Given the description of an element on the screen output the (x, y) to click on. 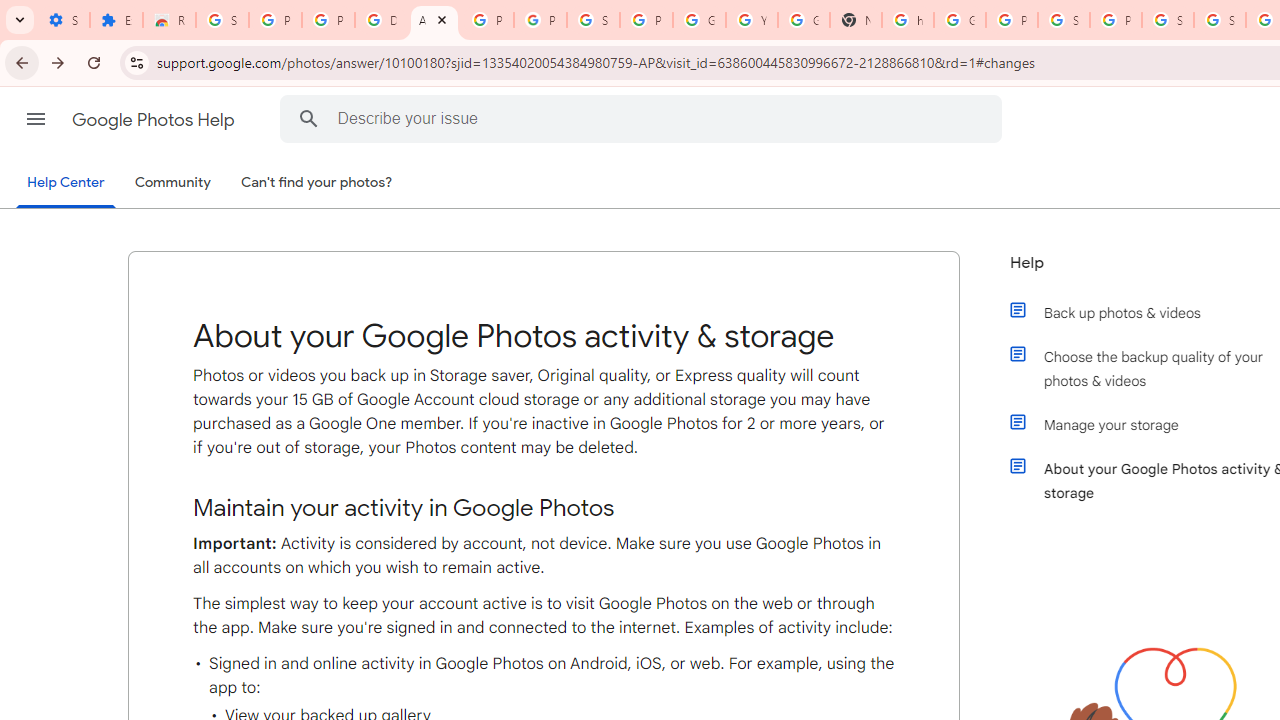
Sign in - Google Accounts (222, 20)
Help Center (65, 183)
Reviews: Helix Fruit Jump Arcade Game (169, 20)
Search Help Center (309, 118)
Community (171, 183)
Main menu (35, 119)
Sign in - Google Accounts (1219, 20)
